Given the description of an element on the screen output the (x, y) to click on. 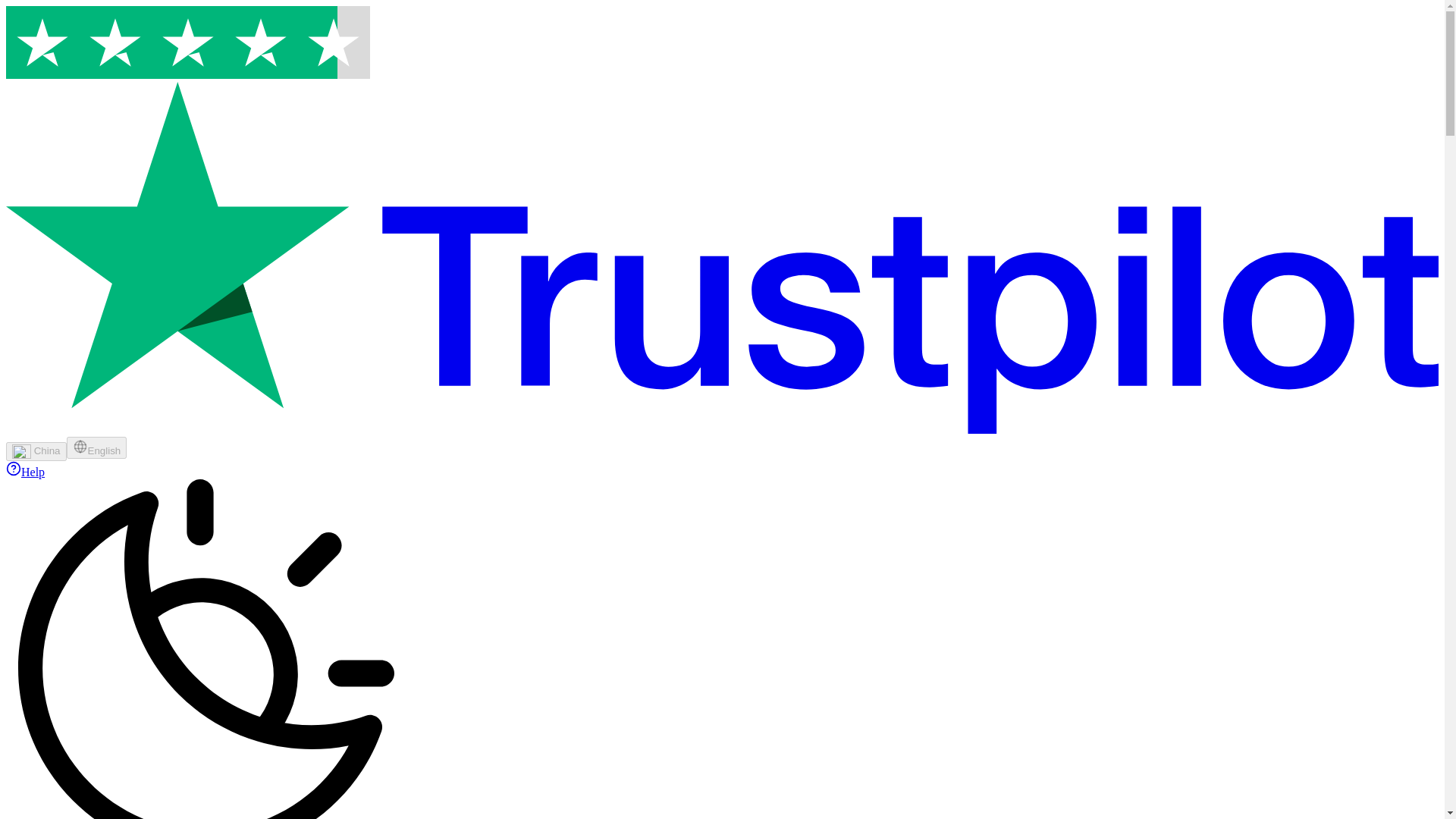
CN (20, 451)
China (35, 451)
English (97, 447)
Help (25, 472)
